Given the description of an element on the screen output the (x, y) to click on. 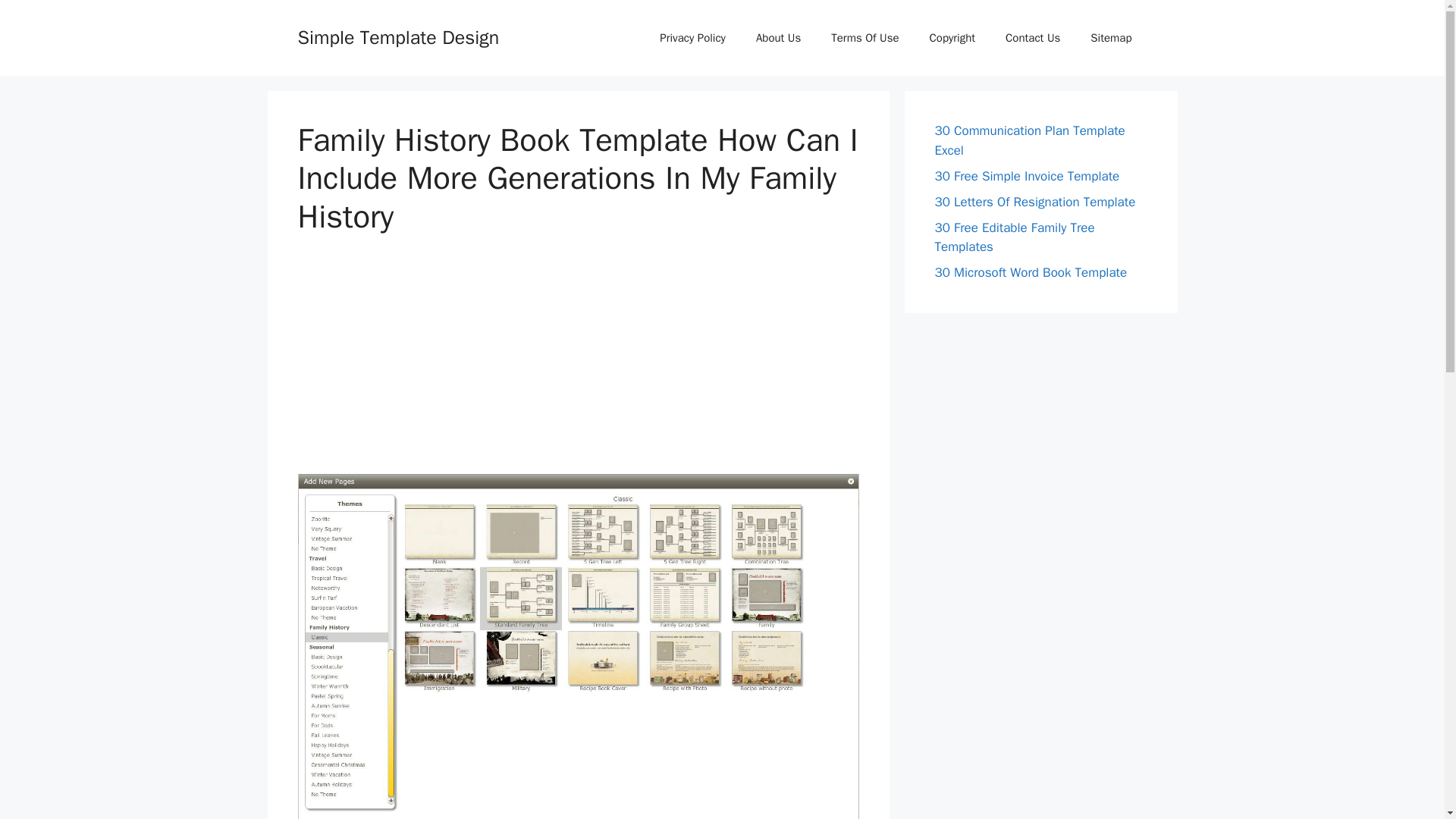
Contact Us (1032, 37)
30 Communication Plan Template Excel (1029, 140)
30 Free Editable Family Tree Templates (1014, 237)
30 Free Simple Invoice Template (1026, 176)
About Us (778, 37)
Simple Template Design (398, 37)
30 Microsoft Word Book Template (1030, 272)
Copyright (952, 37)
30 Letters Of Resignation Template (1034, 201)
Advertisement (578, 367)
Terms Of Use (864, 37)
Privacy Policy (693, 37)
Sitemap (1111, 37)
